Given the description of an element on the screen output the (x, y) to click on. 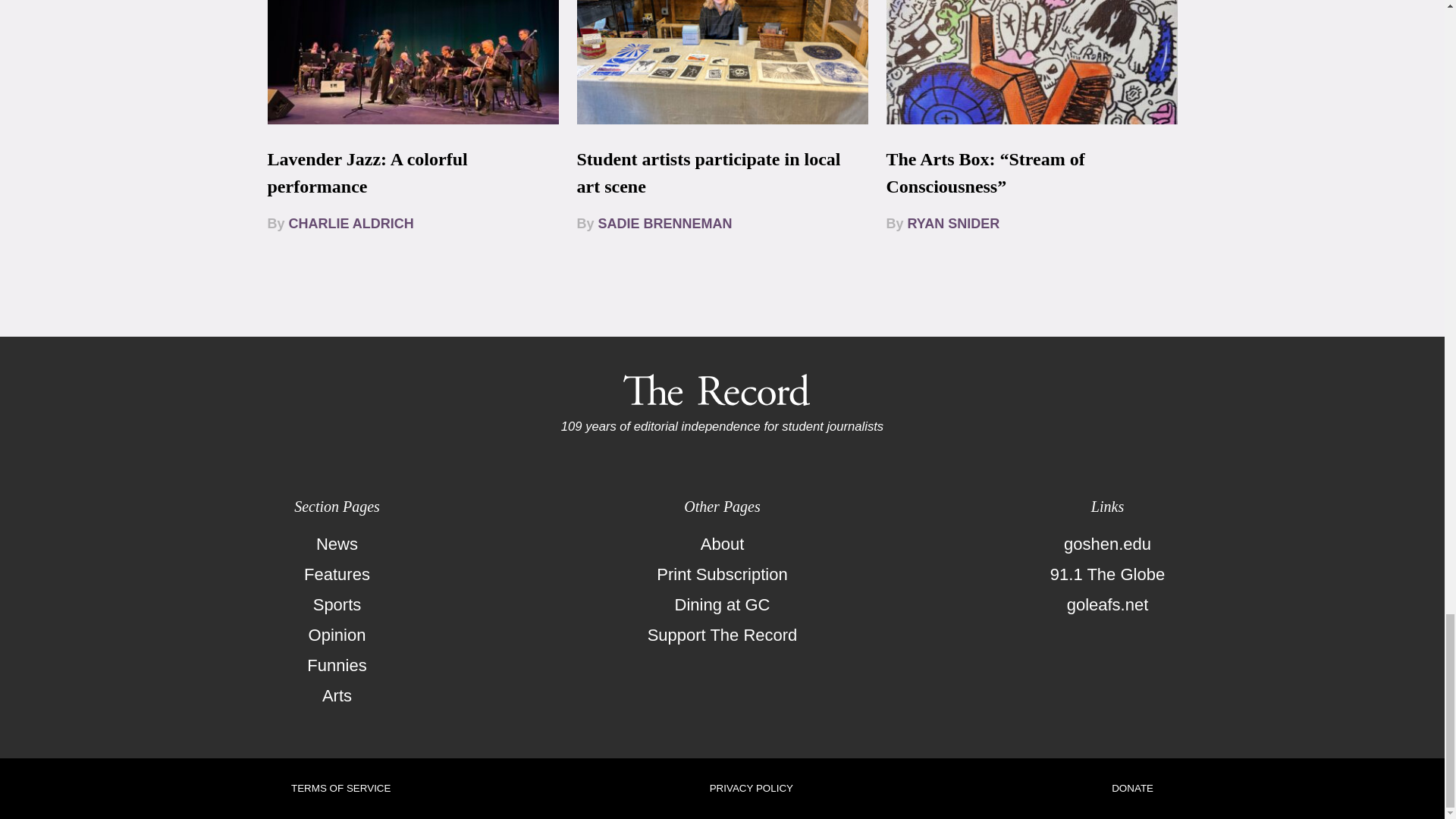
Arts (336, 695)
Student artists participate in local art scene (708, 172)
About (722, 544)
RYAN SNIDER (953, 223)
Print Subscription (722, 574)
Features (336, 574)
Funnies (336, 665)
CHARLIE ALDRICH (350, 223)
Opinion (336, 634)
News (336, 544)
Lavender Jazz: A colorful performance (366, 172)
SADIE BRENNEMAN (665, 223)
Sports (336, 604)
